Given the description of an element on the screen output the (x, y) to click on. 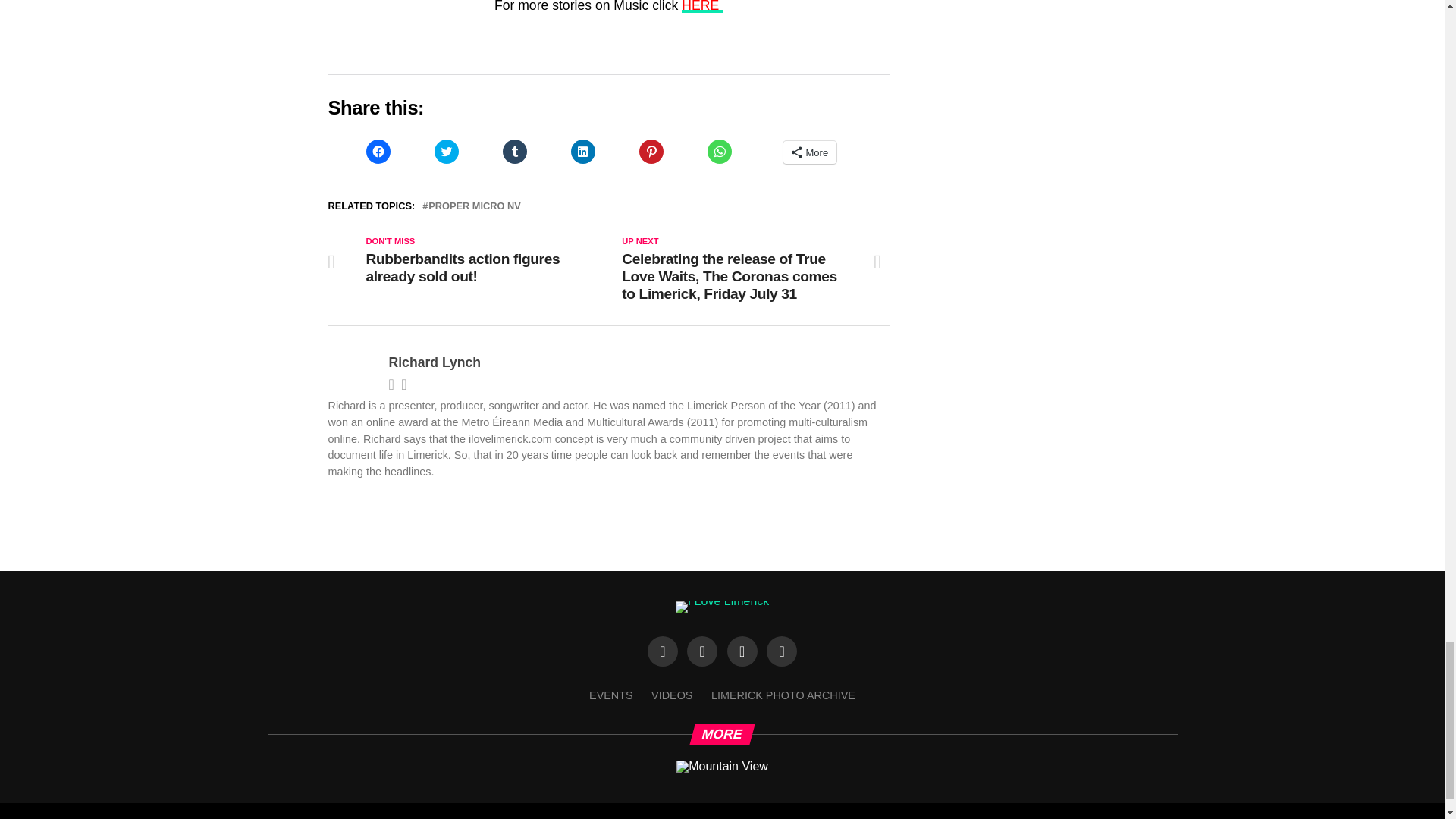
Click to share on Facebook (377, 151)
Click to share on Pinterest (650, 151)
Click to share on LinkedIn (582, 151)
Click to share on Tumblr (513, 151)
Click to share on Twitter (445, 151)
Posts by Richard Lynch (434, 362)
Click to share on WhatsApp (718, 151)
